Given the description of an element on the screen output the (x, y) to click on. 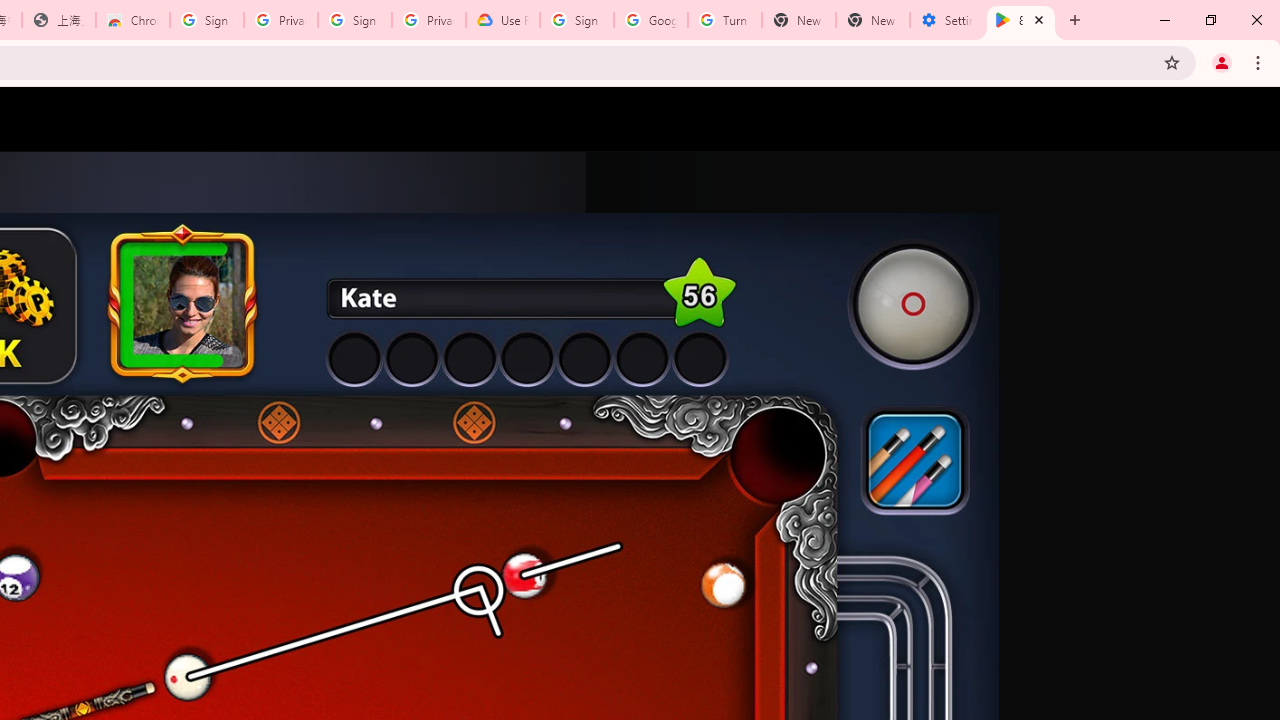
Sign in - Google Accounts (207, 20)
Open account menu (1245, 119)
Settings - System (947, 20)
8 Ball Pool - Apps on Google Play (1021, 20)
Google Account Help (651, 20)
Sign in - Google Accounts (354, 20)
Help Center (1197, 119)
New Tab (872, 20)
